Given the description of an element on the screen output the (x, y) to click on. 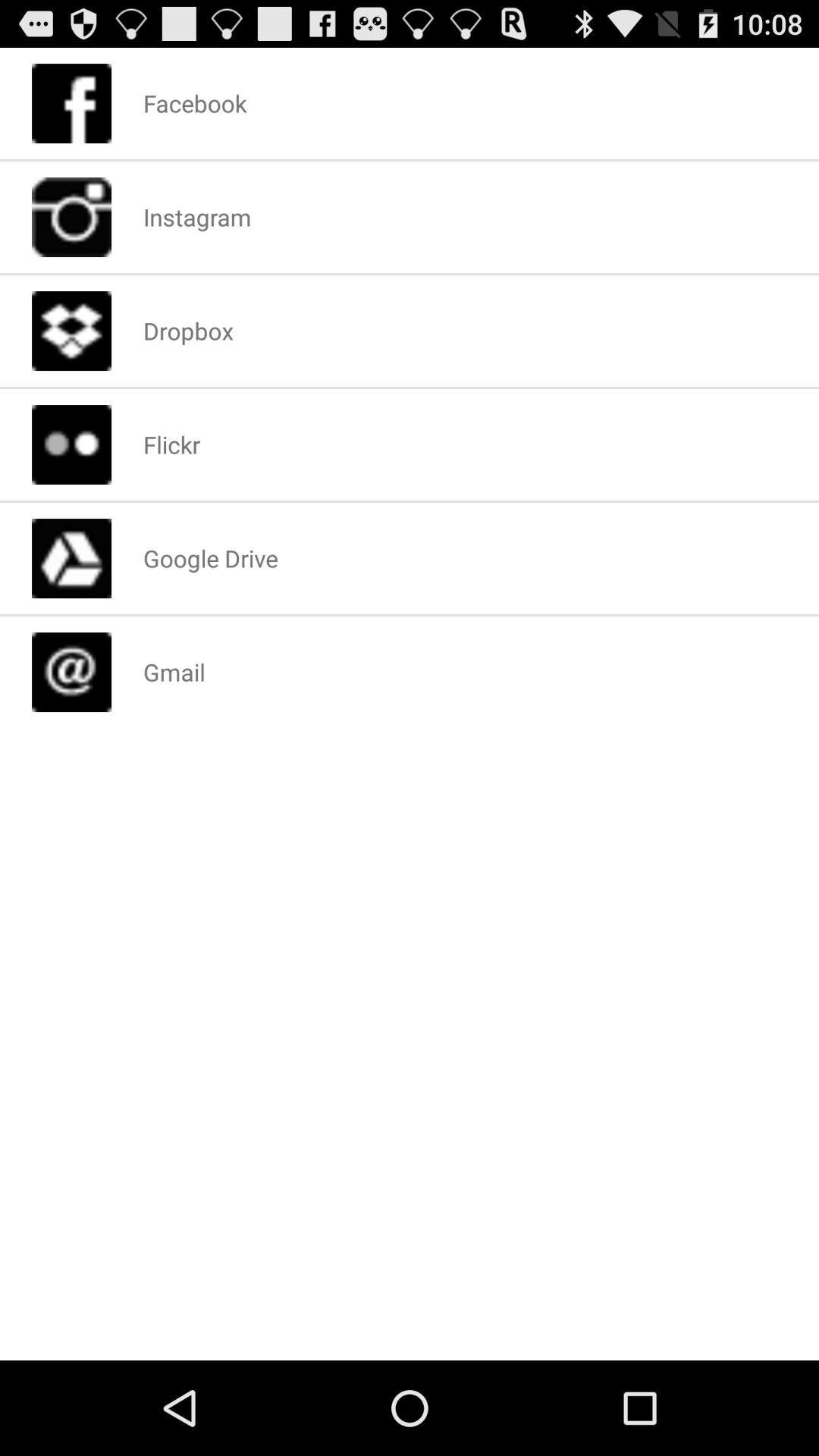
jump until google drive icon (210, 558)
